Given the description of an element on the screen output the (x, y) to click on. 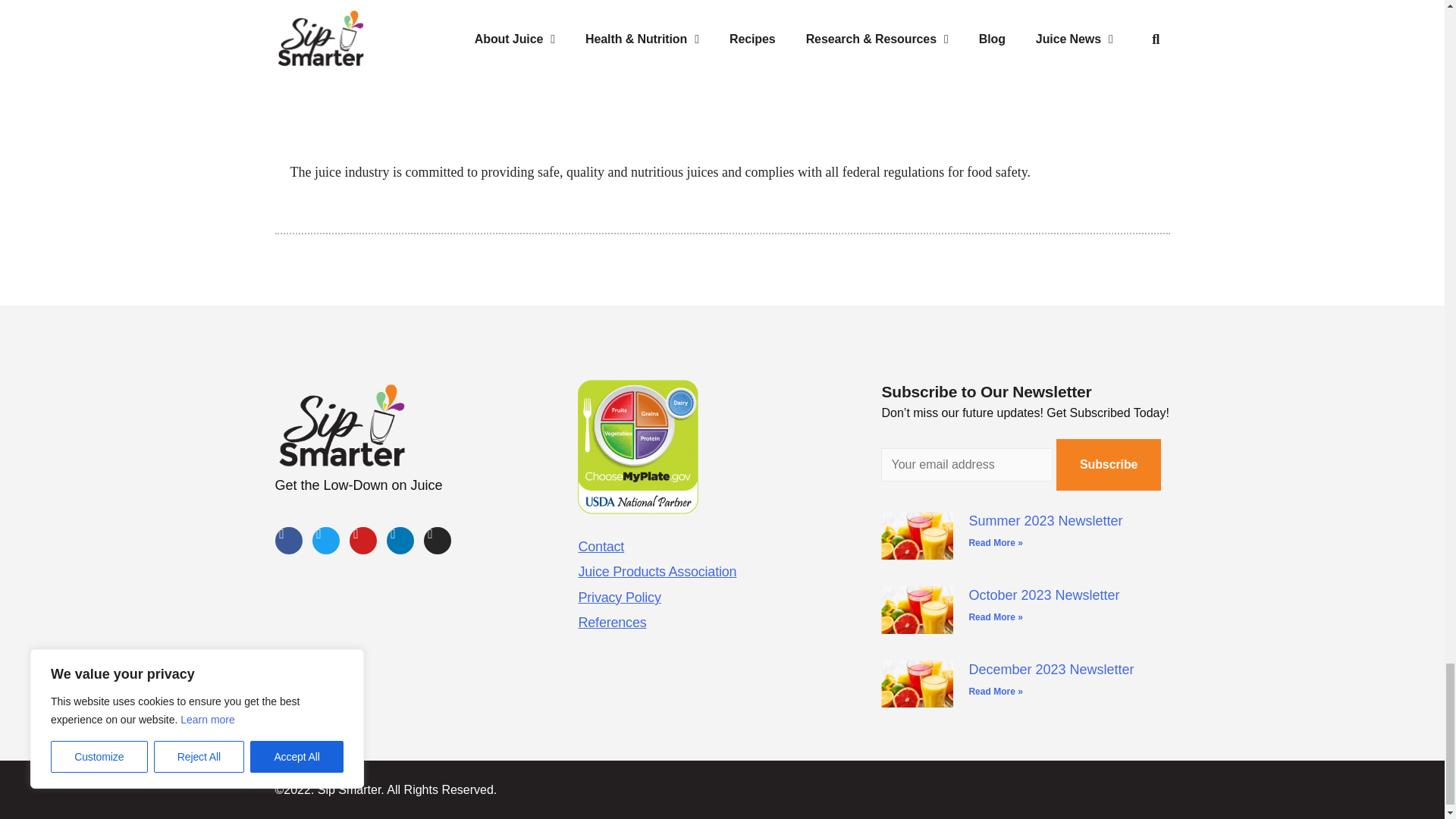
Subscribe (1108, 464)
